Given the description of an element on the screen output the (x, y) to click on. 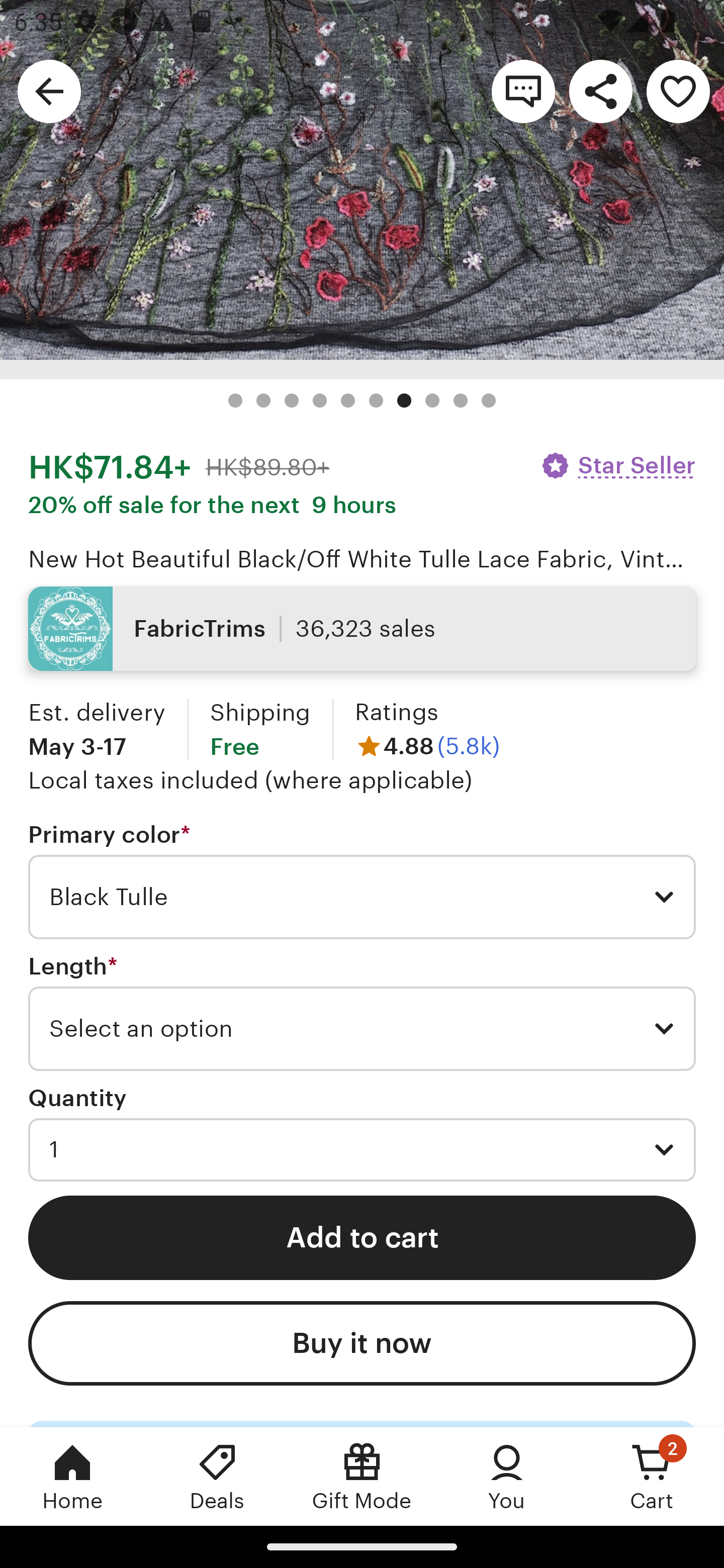
Navigate up (49, 90)
Contact shop (523, 90)
Share (600, 90)
Star Seller (617, 465)
FabricTrims 36,323 sales (361, 628)
Ratings (396, 711)
4.88 (5.8k) (427, 746)
Primary color * Required Black Tulle (361, 880)
Black Tulle (361, 896)
Length * Required Select an option (361, 1011)
Select an option (361, 1028)
Quantity (77, 1098)
1 (361, 1149)
Add to cart (361, 1236)
Buy it now (361, 1343)
Deals (216, 1475)
Gift Mode (361, 1475)
You (506, 1475)
Cart, 2 new notifications Cart (651, 1475)
